Given the description of an element on the screen output the (x, y) to click on. 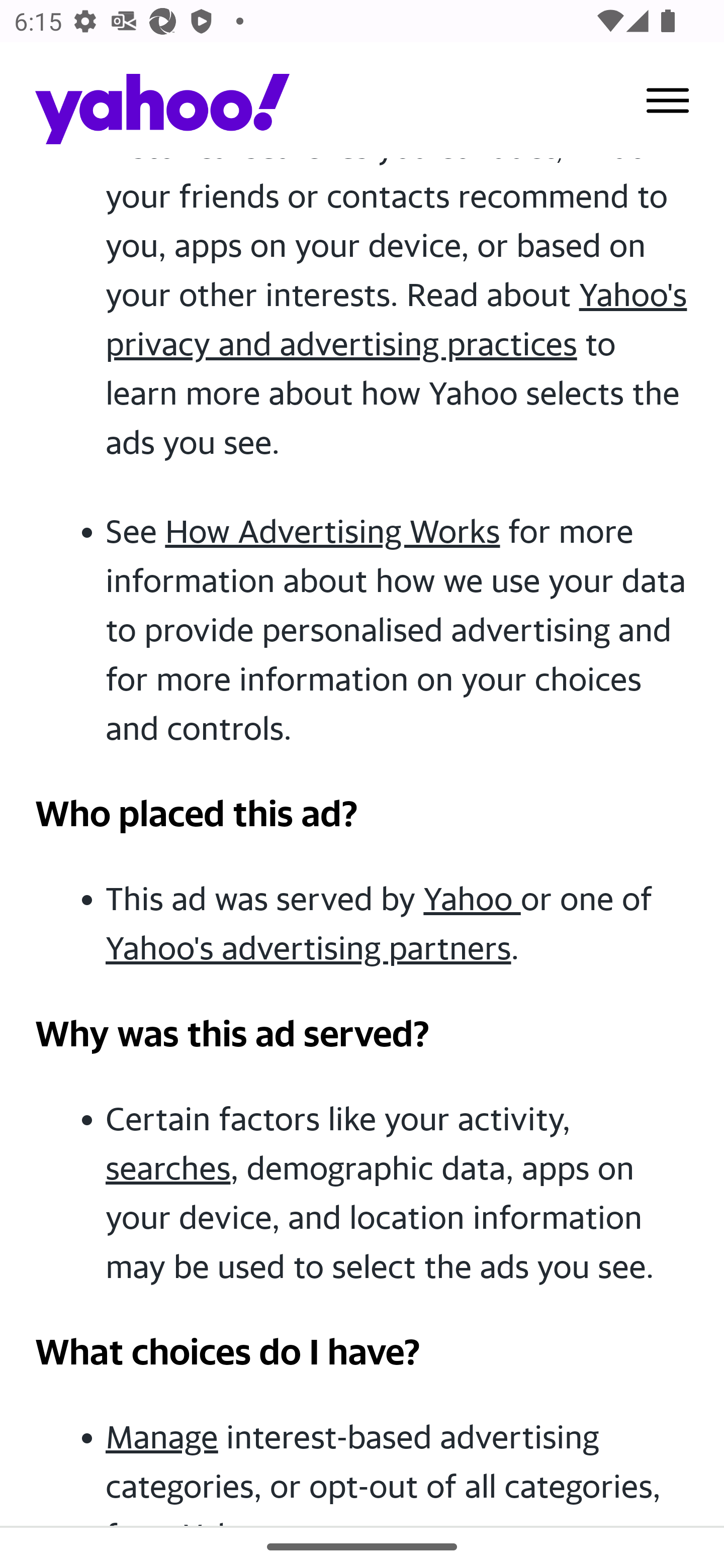
Yahoo's privacy and advertising practices (396, 318)
How Advertising Works (332, 530)
Yahoo  (471, 898)
Yahoo's advertising partners (308, 947)
searches (168, 1166)
Manage (162, 1436)
